Given the description of an element on the screen output the (x, y) to click on. 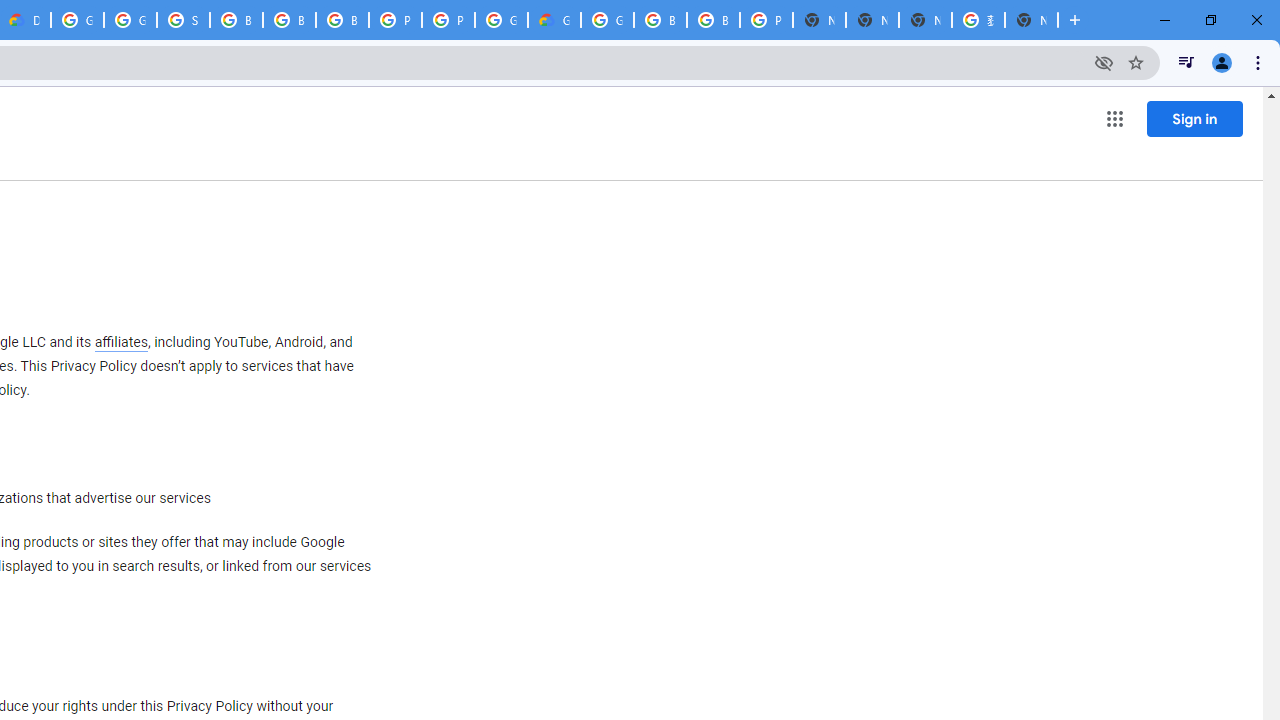
Google Cloud Platform (501, 20)
Google Cloud Estimate Summary (554, 20)
affiliates (120, 342)
Google Cloud Platform (77, 20)
Sign in - Google Accounts (183, 20)
